Given the description of an element on the screen output the (x, y) to click on. 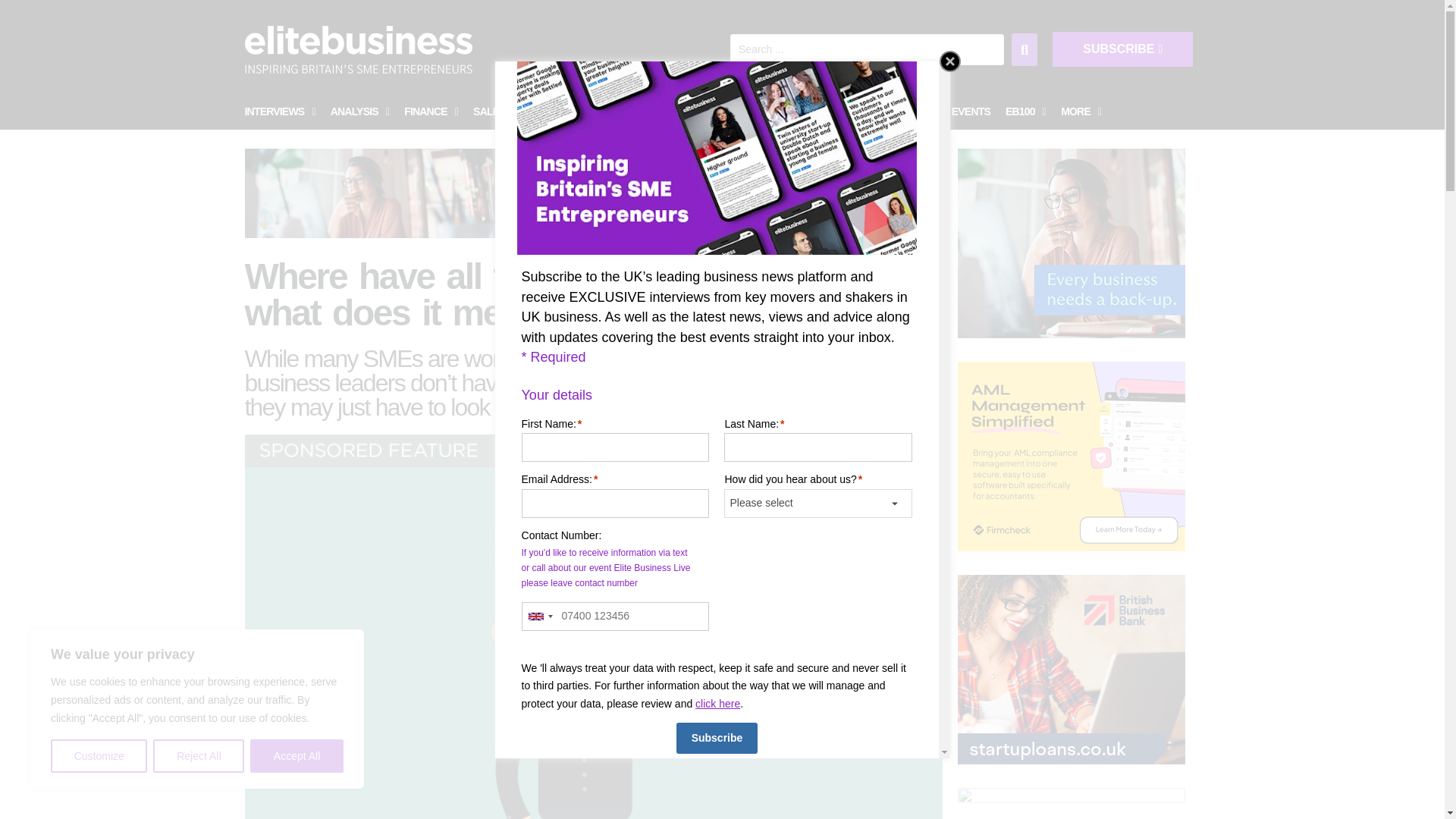
Accept All (296, 756)
ANALYSIS (359, 112)
FINANCE (430, 112)
INTERVIEWS (278, 112)
Reject All (198, 756)
Customize (98, 756)
SUBSCRIBE (1122, 48)
